Given the description of an element on the screen output the (x, y) to click on. 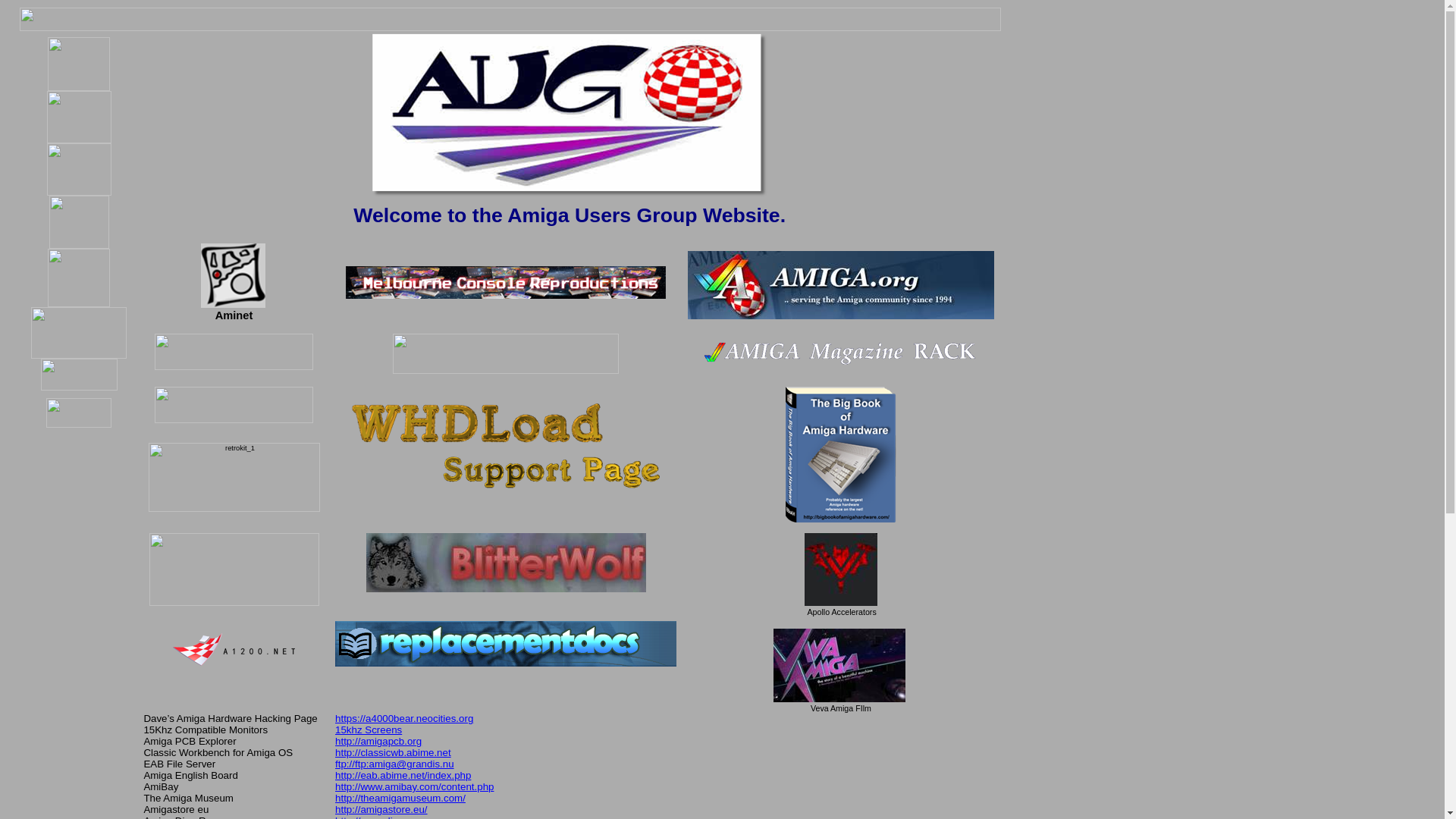
http://www.amibay.com/content.php Element type: text (414, 786)
http://eab.abime.net/index.php Element type: text (402, 775)
http://amigapcb.org Element type: text (378, 740)
http://classicwb.abime.net Element type: text (393, 752)
http://theamigamuseum.com/ Element type: text (400, 797)
15khz Screens Element type: text (368, 729)
https://a4000bear.neocities.org Element type: text (404, 717)
http://amigastore.eu/ Element type: text (381, 809)
ftp://ftp:amiga@grandis.nu Element type: text (394, 763)
